Given the description of an element on the screen output the (x, y) to click on. 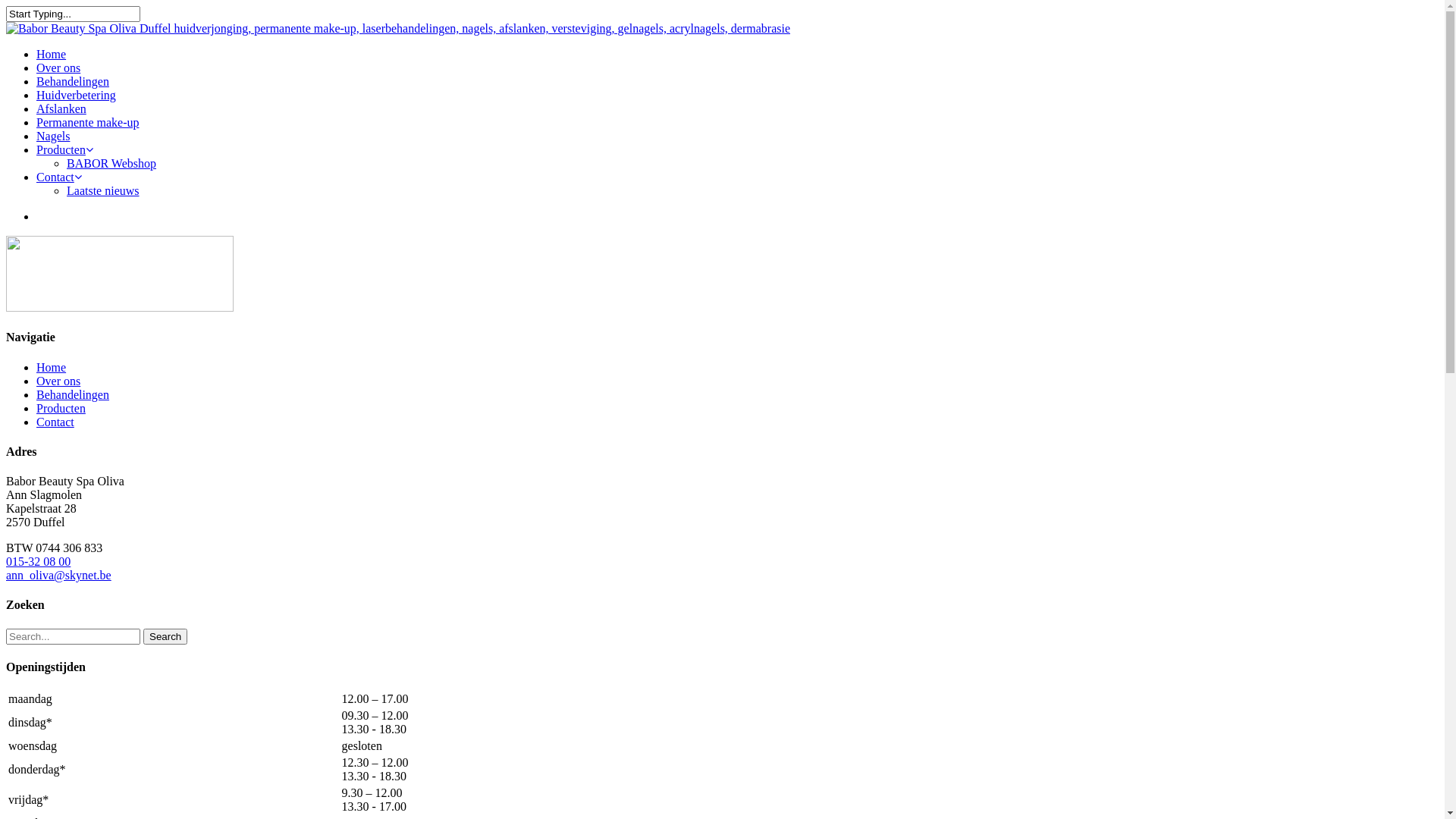
Nagels Element type: text (52, 135)
Over ons Element type: text (58, 67)
Behandelingen Element type: text (72, 394)
Permanente make-up Element type: text (87, 122)
Home Element type: text (50, 53)
ann_oliva@skynet.be Element type: text (58, 574)
Search Element type: text (165, 636)
Contact Element type: text (58, 176)
Over ons Element type: text (58, 380)
Producten Element type: text (64, 149)
Huidverbetering Element type: text (76, 94)
BABOR Webshop Element type: text (111, 162)
Behandelingen Element type: text (72, 81)
Laatste nieuws Element type: text (102, 190)
Afslanken Element type: text (61, 108)
Contact Element type: text (55, 421)
Home Element type: text (50, 366)
015-32 08 00 Element type: text (38, 561)
Search for: Element type: hover (73, 636)
Producten Element type: text (60, 407)
